Given the description of an element on the screen output the (x, y) to click on. 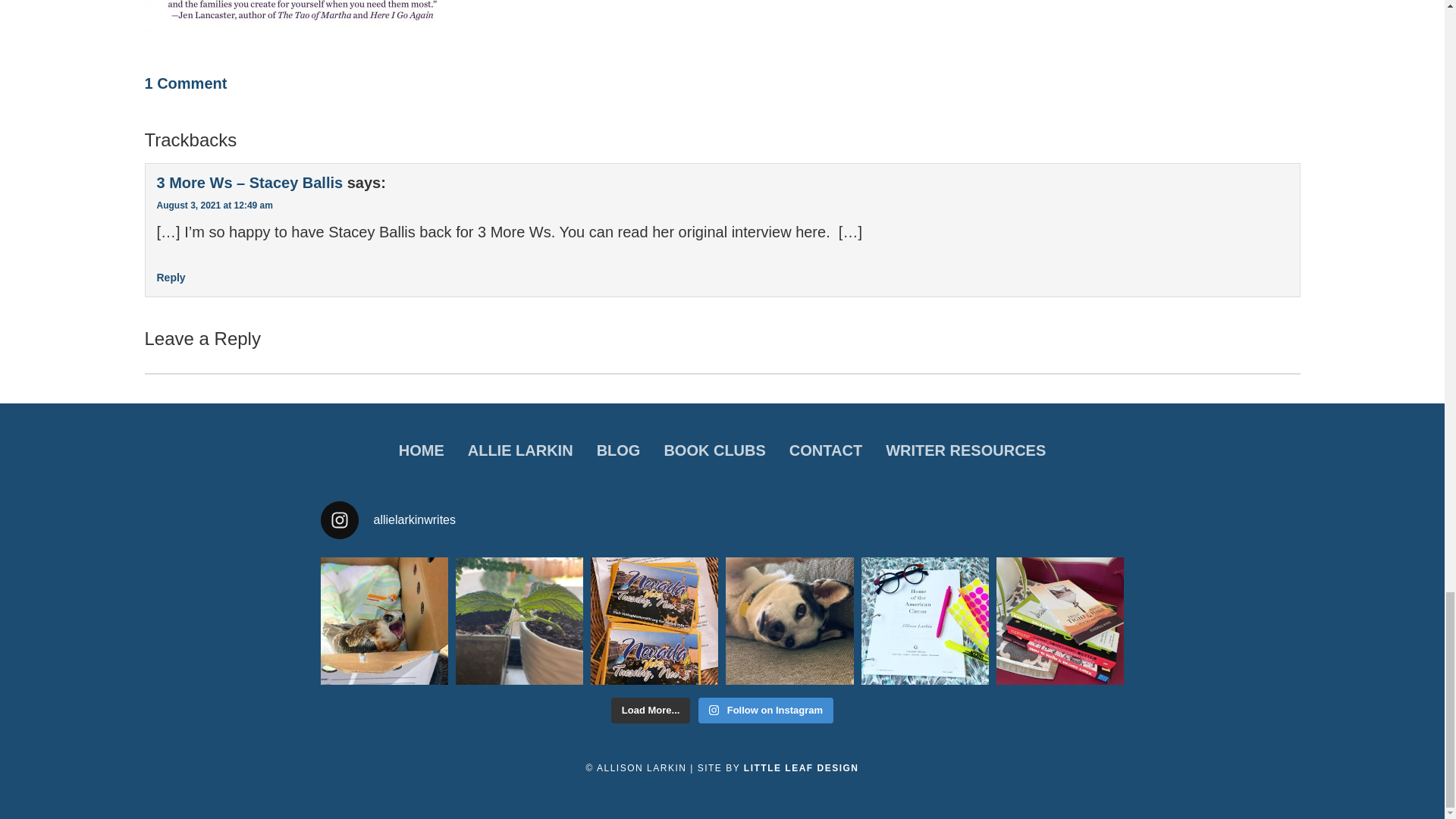
August 3, 2021 at 12:49 am (213, 204)
Reply (169, 277)
1 Comment (185, 83)
WRITER RESOURCES (966, 449)
ALLIE LARKIN (521, 449)
BLOG (618, 449)
BOOK CLUBS (714, 449)
HOME (421, 449)
CONTACT (825, 449)
allielarkinwrites (722, 519)
